Given the description of an element on the screen output the (x, y) to click on. 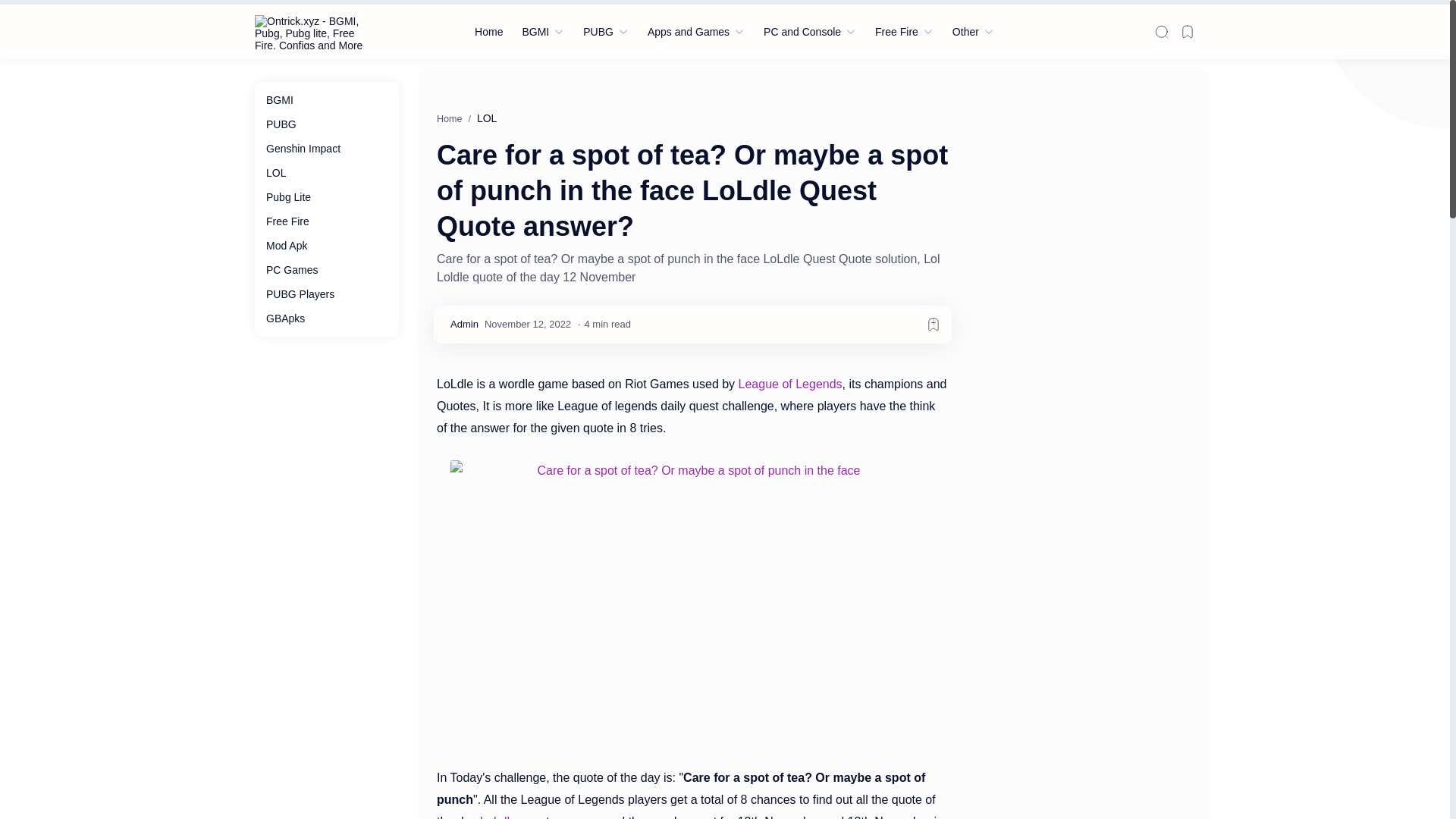
Home (488, 31)
Published: November 12, 2022 (527, 324)
